Given the description of an element on the screen output the (x, y) to click on. 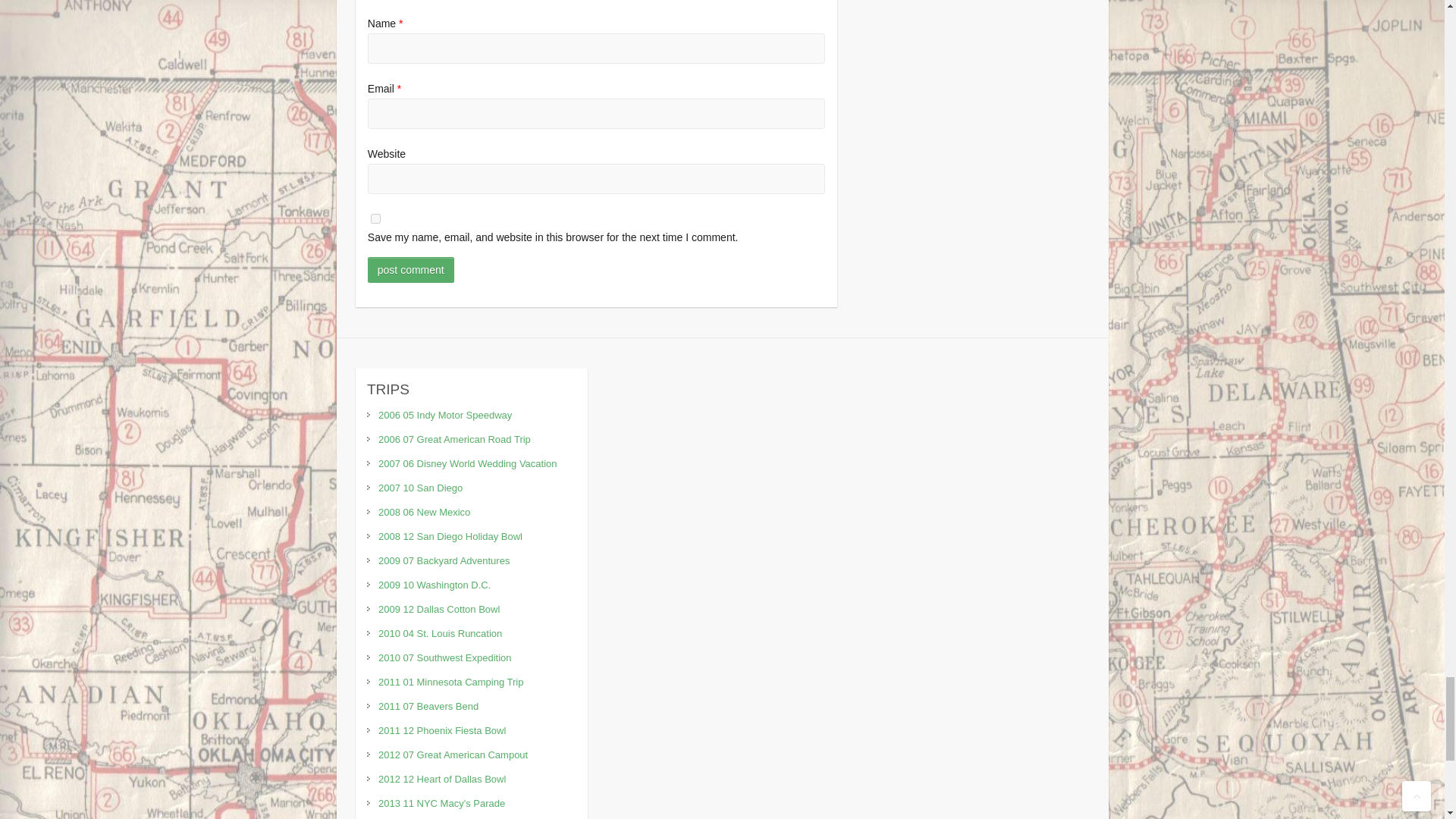
Post Comment (411, 269)
Post Comment (411, 269)
yes (375, 218)
